Given the description of an element on the screen output the (x, y) to click on. 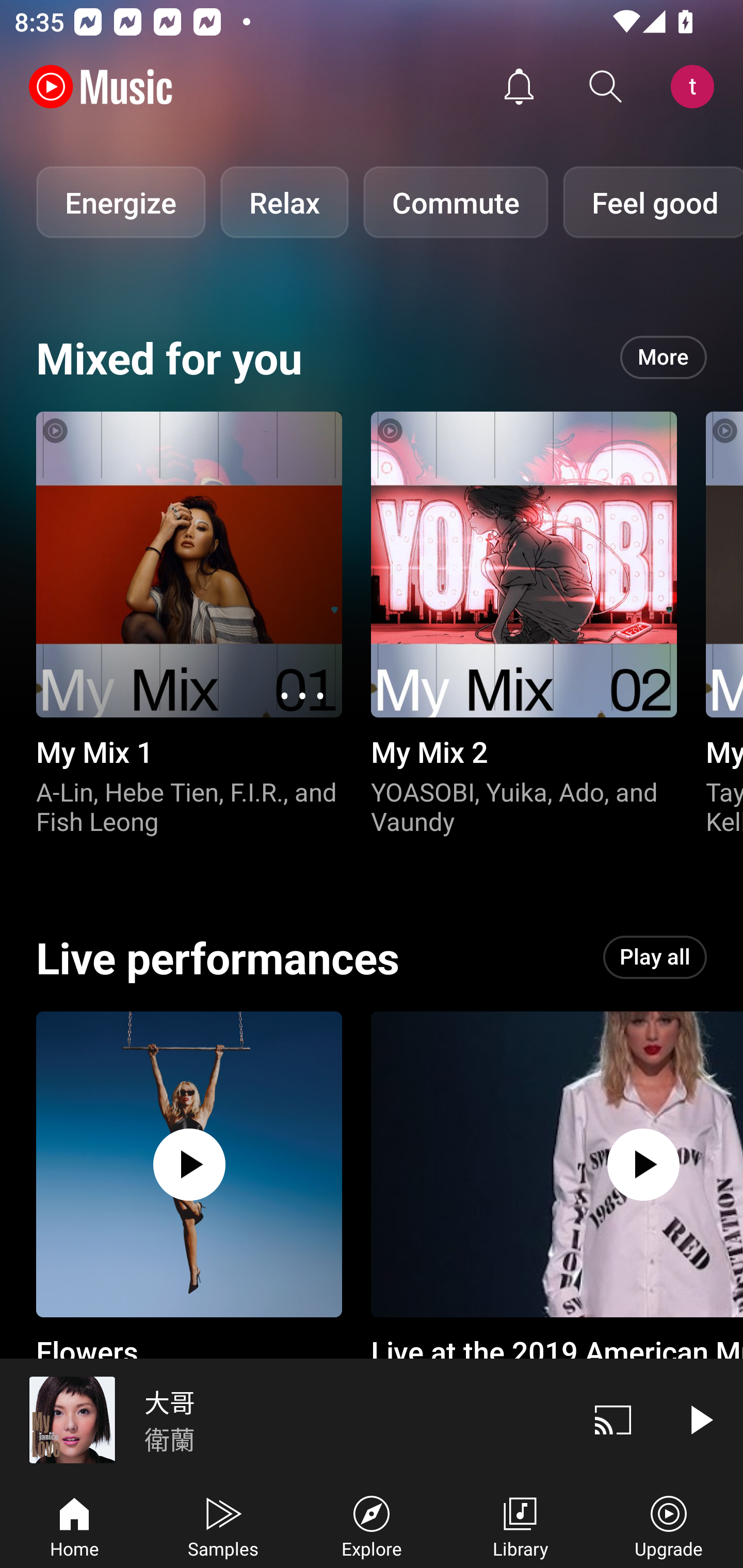
Activity feed (518, 86)
Search (605, 86)
Account (696, 86)
大哥 衛蘭 (284, 1419)
Cast. Disconnected (612, 1419)
Play video (699, 1419)
Home (74, 1524)
Samples (222, 1524)
Explore (371, 1524)
Library (519, 1524)
Upgrade (668, 1524)
